Given the description of an element on the screen output the (x, y) to click on. 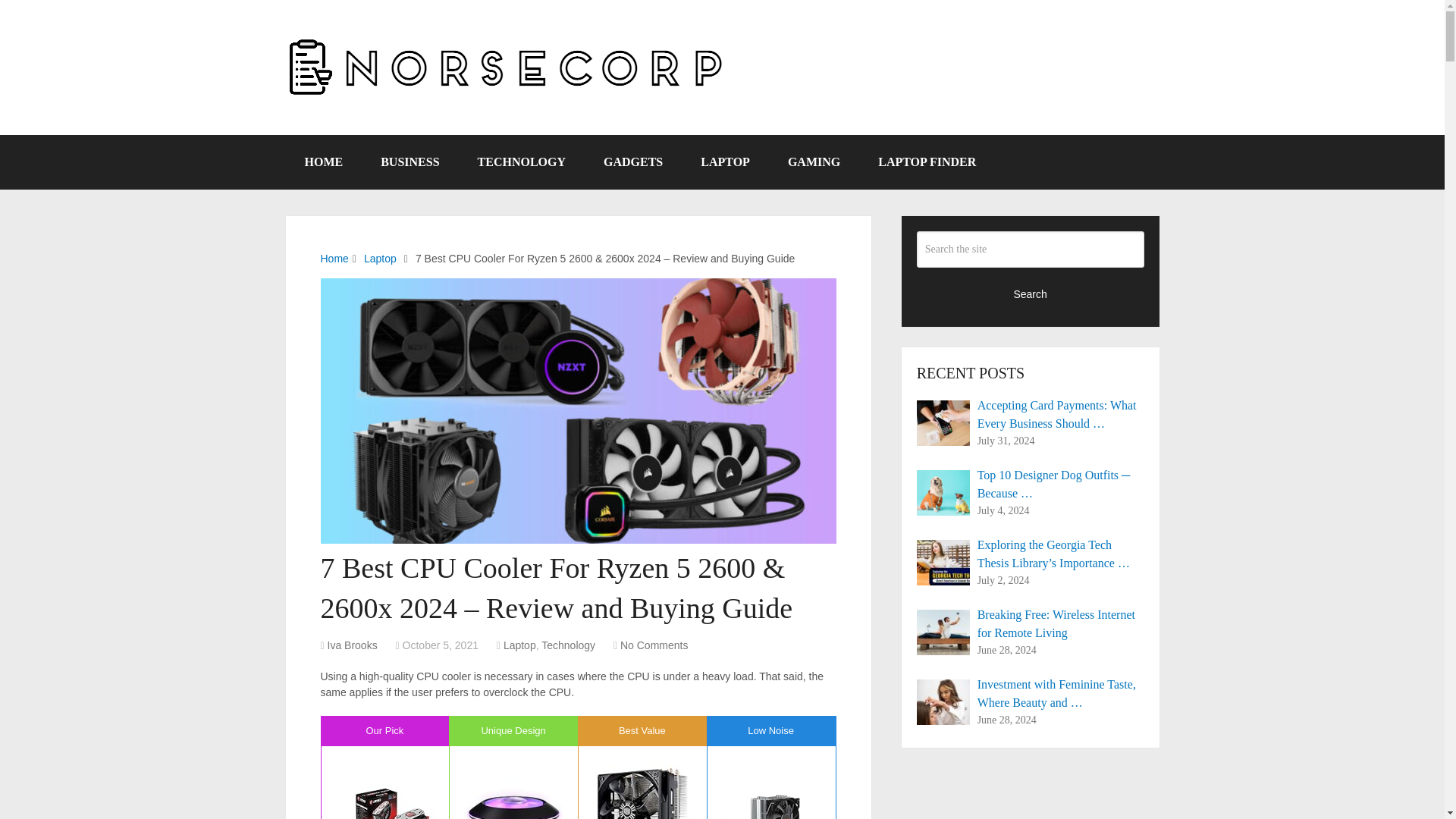
View all posts in Laptop (519, 645)
LAPTOP (724, 162)
HOME (323, 162)
Laptop (519, 645)
View all posts in Technology (568, 645)
Technology (568, 645)
GADGETS (633, 162)
BUSINESS (409, 162)
LAPTOP FINDER (926, 162)
Home (333, 258)
Posts by Iva Brooks (352, 645)
Iva Brooks (352, 645)
GAMING (813, 162)
No Comments (653, 645)
TECHNOLOGY (521, 162)
